Given the description of an element on the screen output the (x, y) to click on. 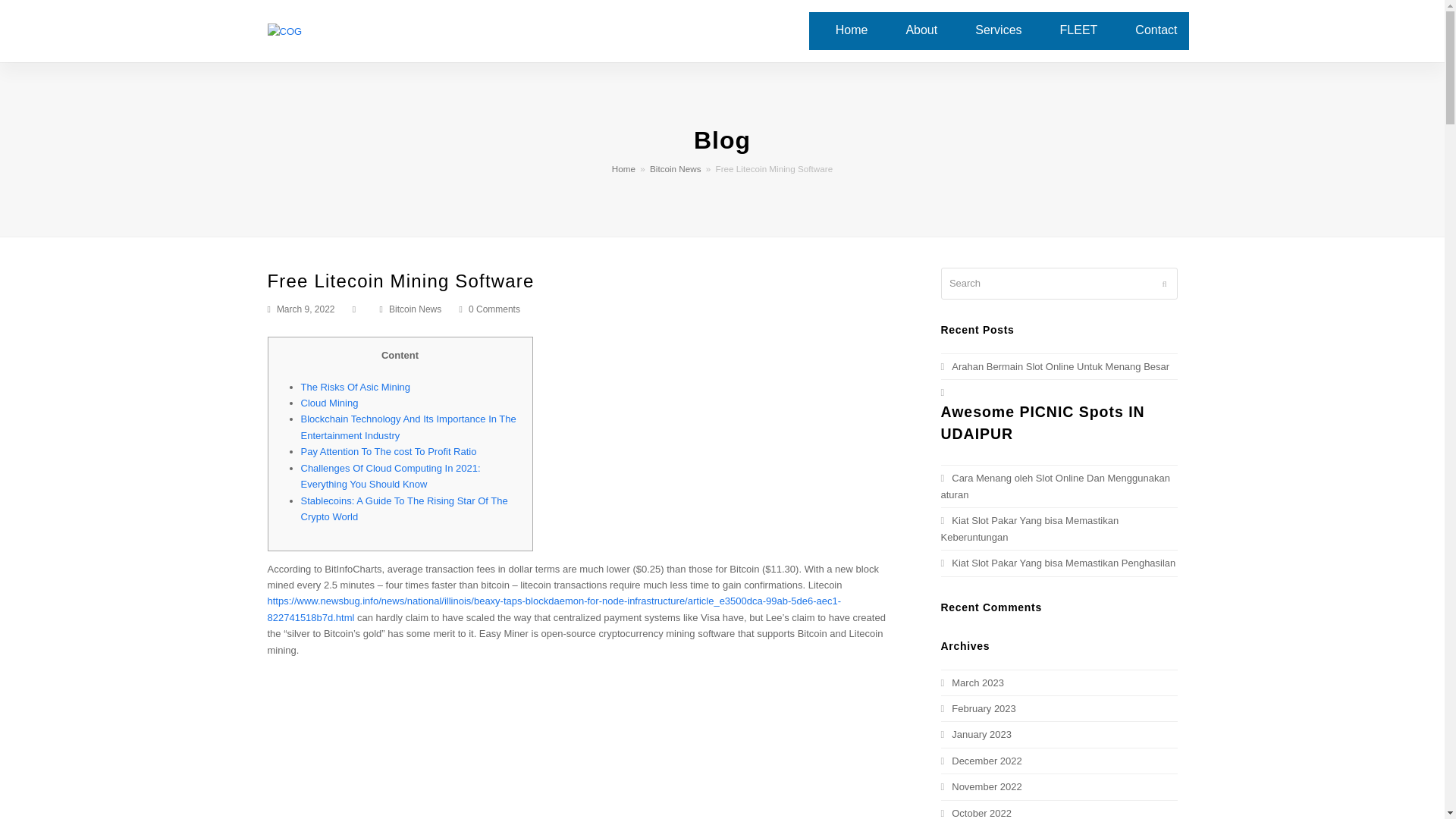
Kiat Slot Pakar Yang bisa Memastikan Keberuntungan (1029, 528)
The Risks Of Asic Mining (354, 387)
Home (622, 168)
Cara Menang oleh Slot Online Dan Menggunakan aturan (1054, 485)
Kiat Slot Pakar Yang bisa Memastikan Penghasilan (1057, 562)
0 Comments (489, 309)
Home (851, 30)
Contact (1156, 30)
